Given the description of an element on the screen output the (x, y) to click on. 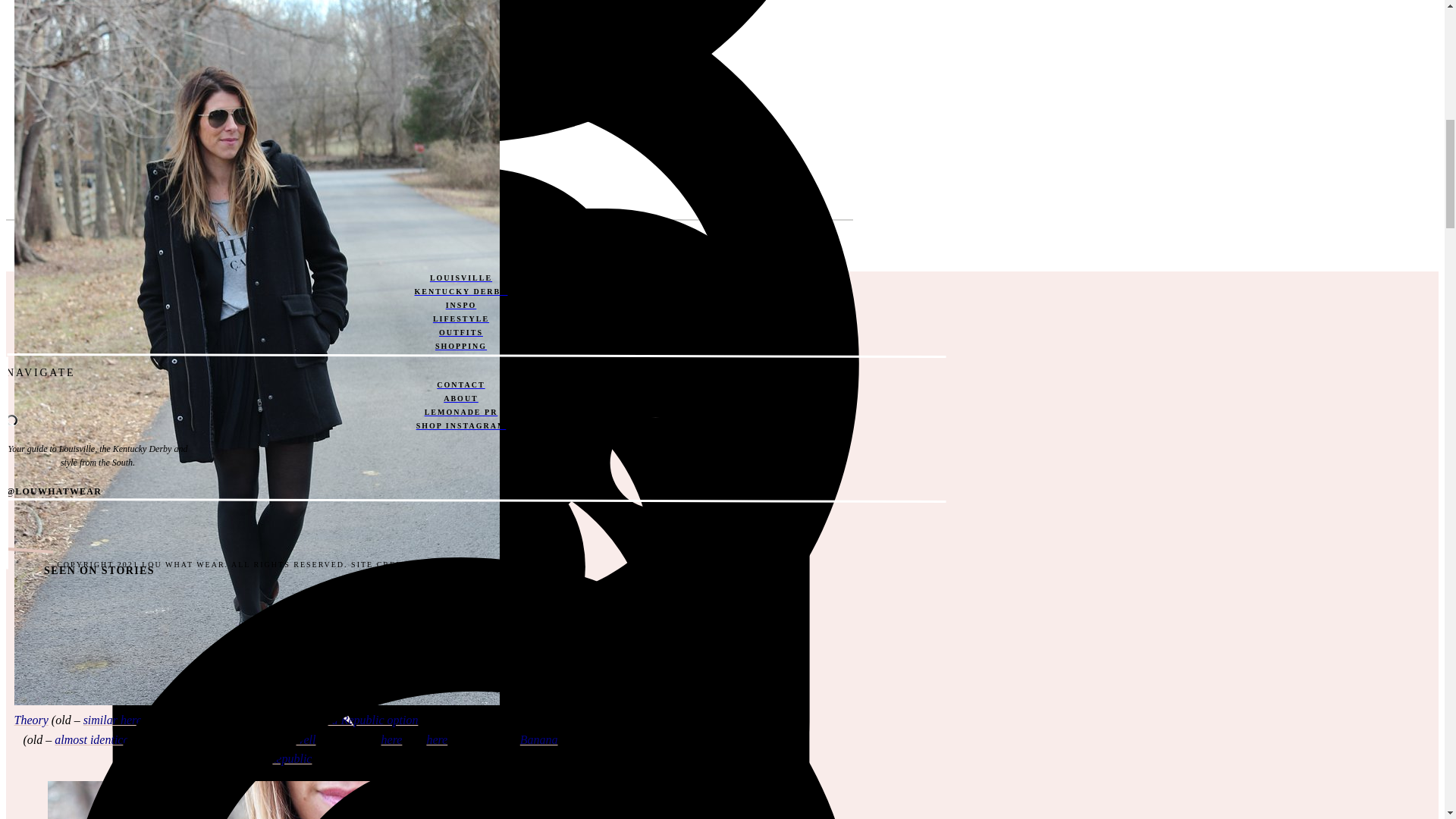
Outfit Post: Flare Up (436, 739)
